Given the description of an element on the screen output the (x, y) to click on. 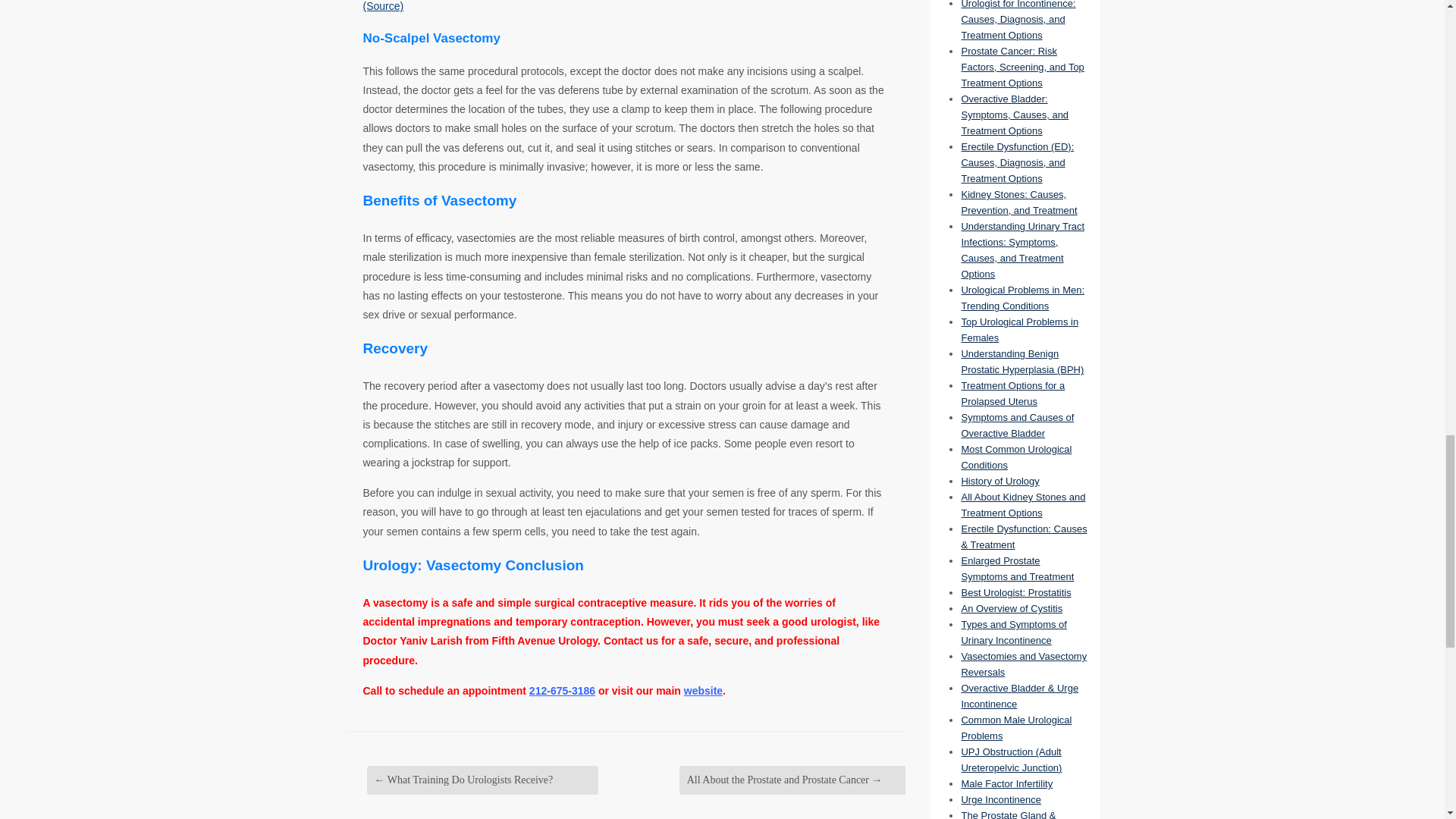
website (703, 690)
212-675-3186 (562, 690)
